Given the description of an element on the screen output the (x, y) to click on. 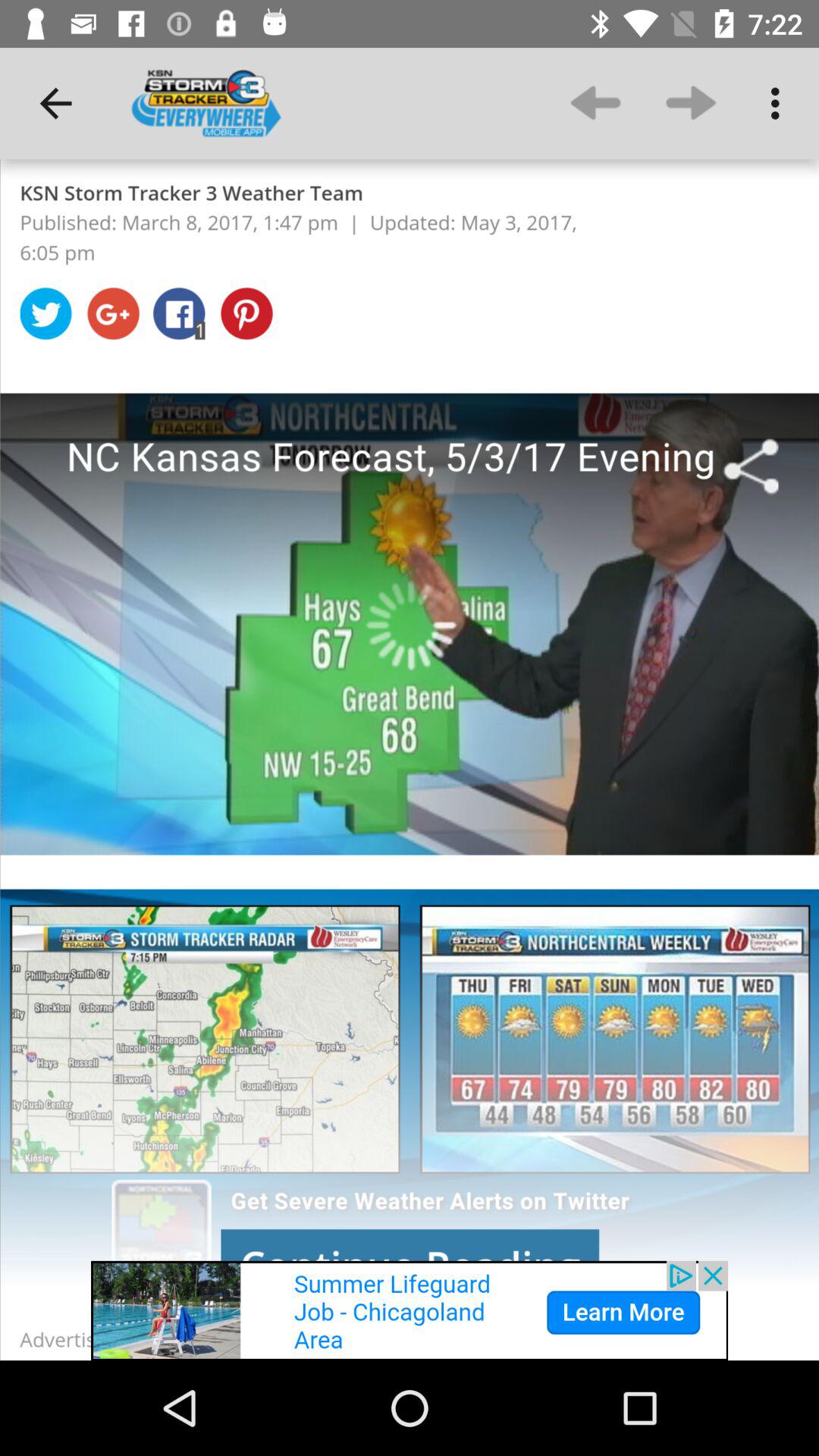
colour pinter (409, 759)
